Given the description of an element on the screen output the (x, y) to click on. 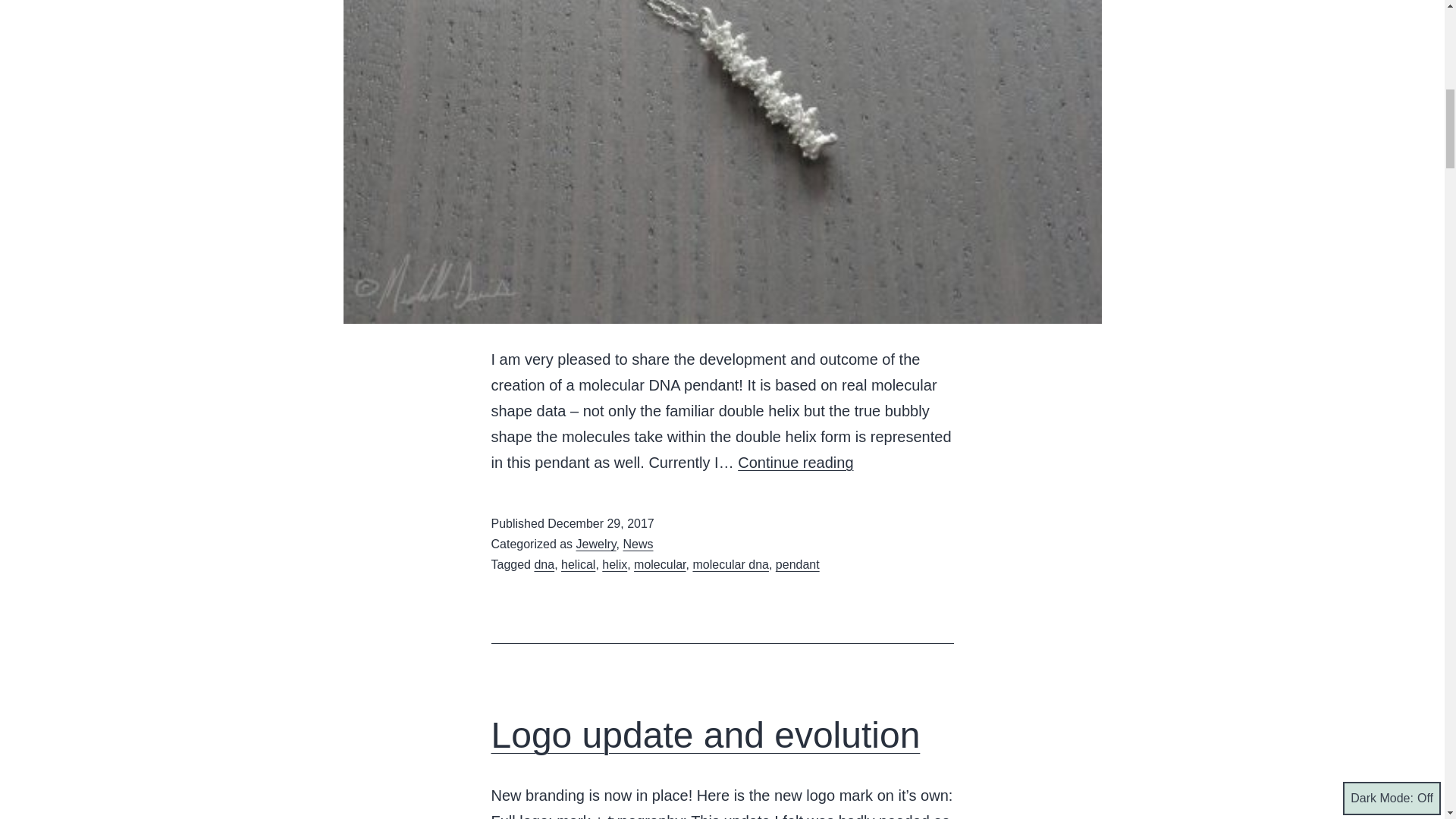
molecular (659, 563)
Jewelry (595, 543)
helical (577, 563)
Logo update and evolution (706, 734)
News (638, 543)
helix (614, 563)
dna (544, 563)
pendant (797, 563)
molecular dna (730, 563)
